Given the description of an element on the screen output the (x, y) to click on. 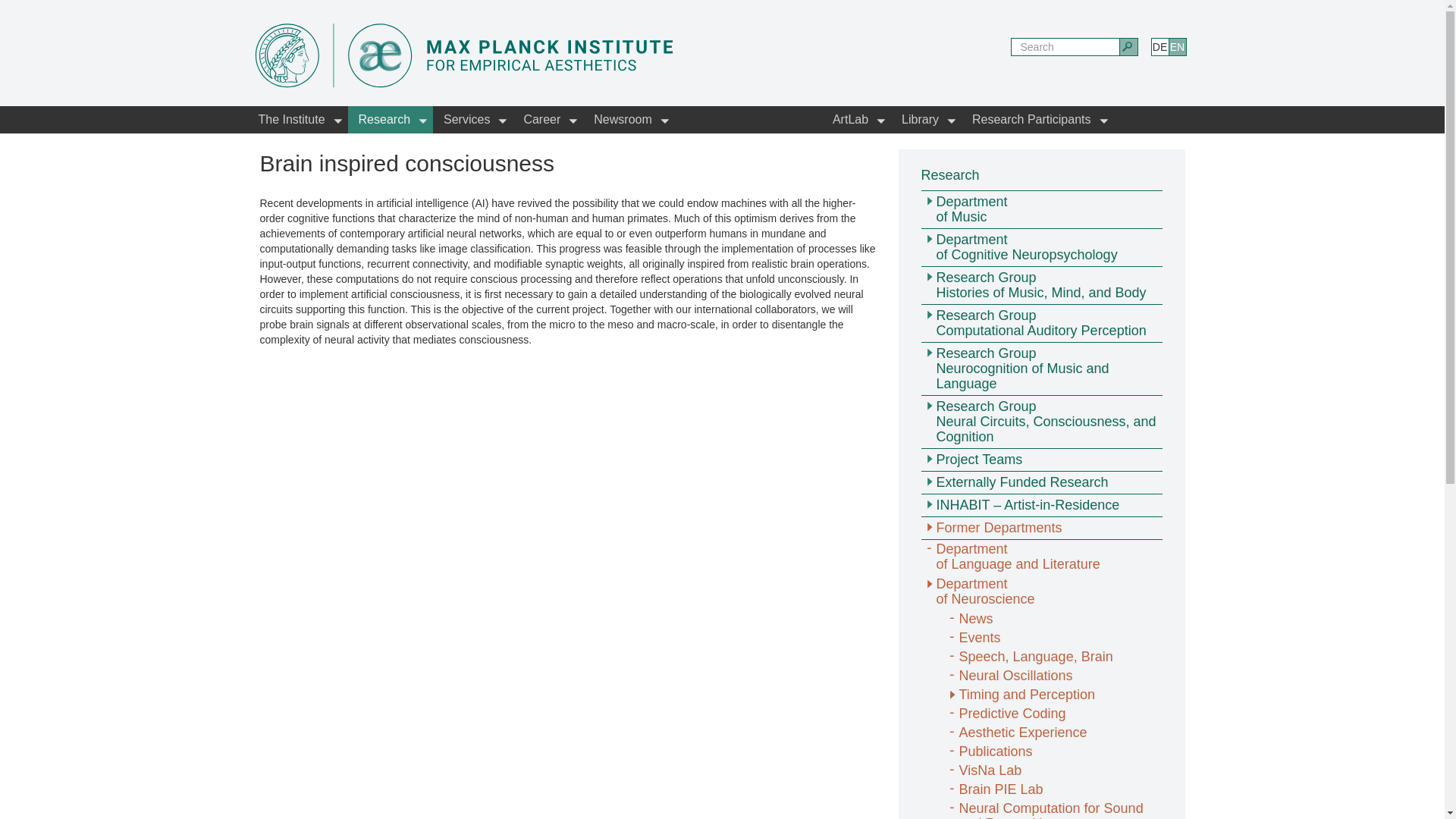
Go! (1128, 46)
Go! (1128, 46)
Research (389, 119)
Research (389, 119)
The Institute (297, 119)
DE (1160, 46)
Services (472, 119)
Home - Max Planck Institute for Empirical Aesthetics (465, 51)
Newsroom (628, 119)
Search (1064, 46)
Go! (1128, 46)
The Institute (297, 119)
Career (547, 119)
